Given the description of an element on the screen output the (x, y) to click on. 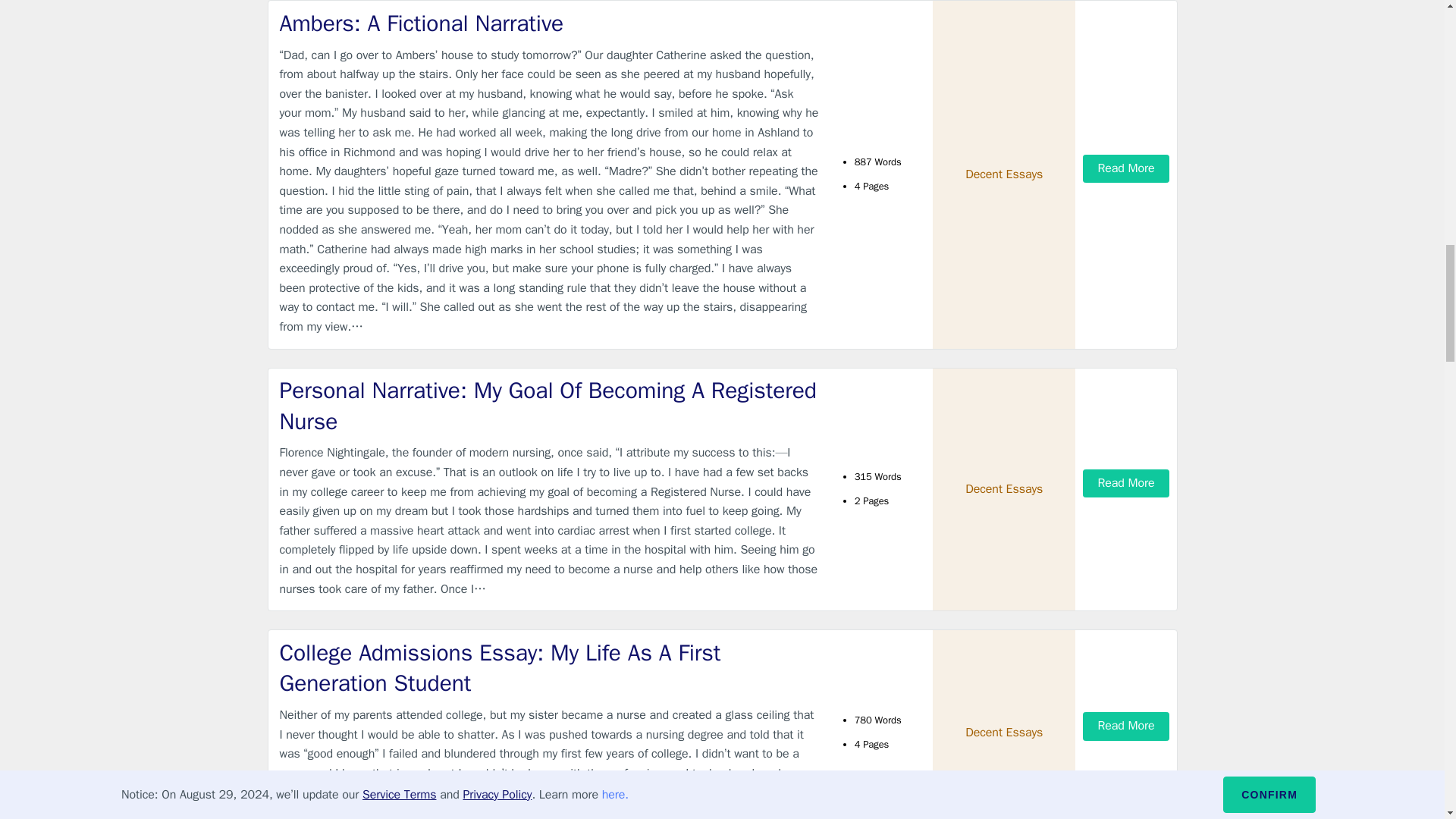
Read More (1126, 483)
Read More (1126, 168)
Read More (1126, 725)
Ambers: A Fictional Narrative (548, 23)
Personal Narrative: My Goal Of Becoming A Registered Nurse (548, 405)
